Given the description of an element on the screen output the (x, y) to click on. 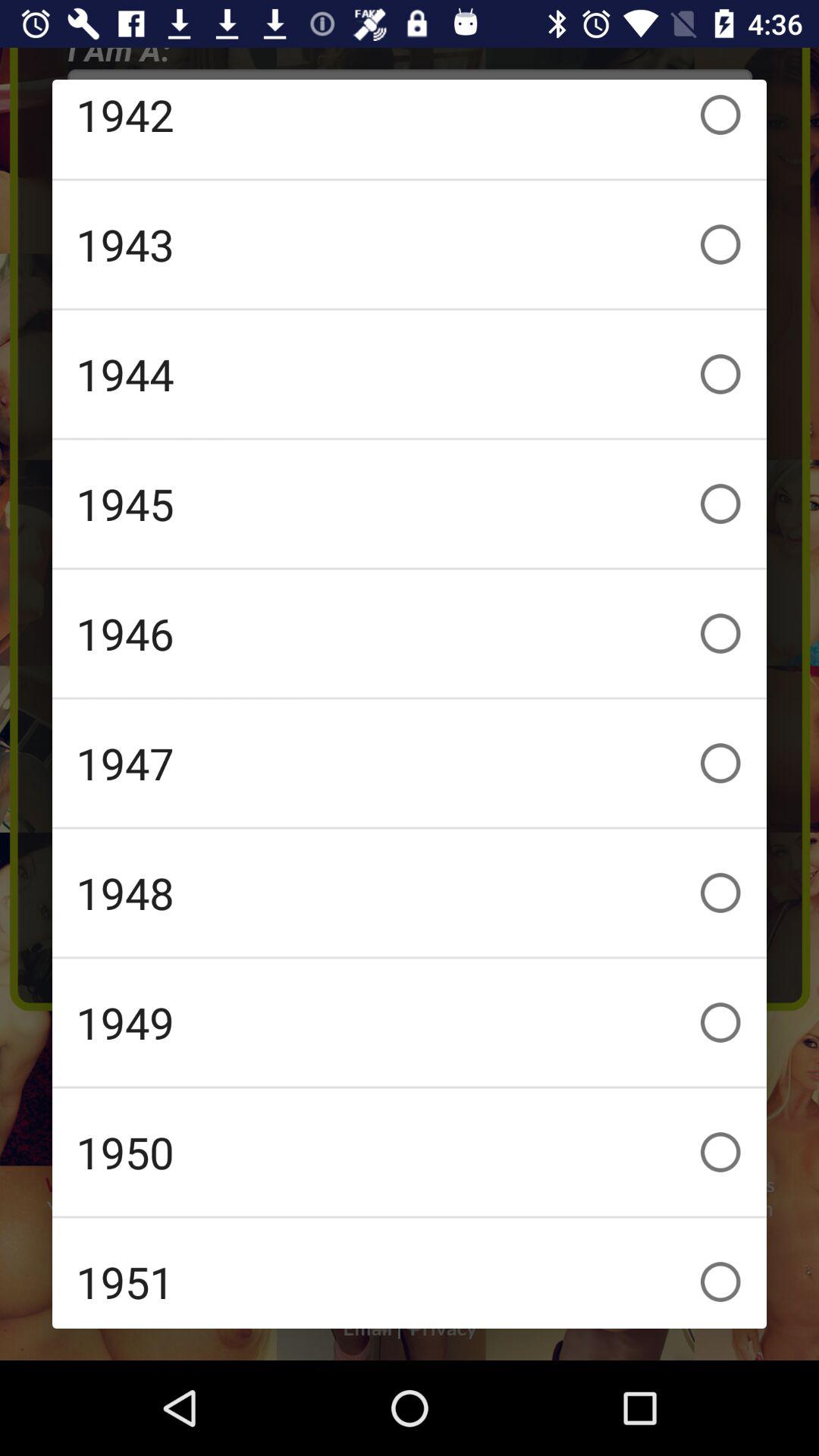
open 1943 (409, 244)
